Given the description of an element on the screen output the (x, y) to click on. 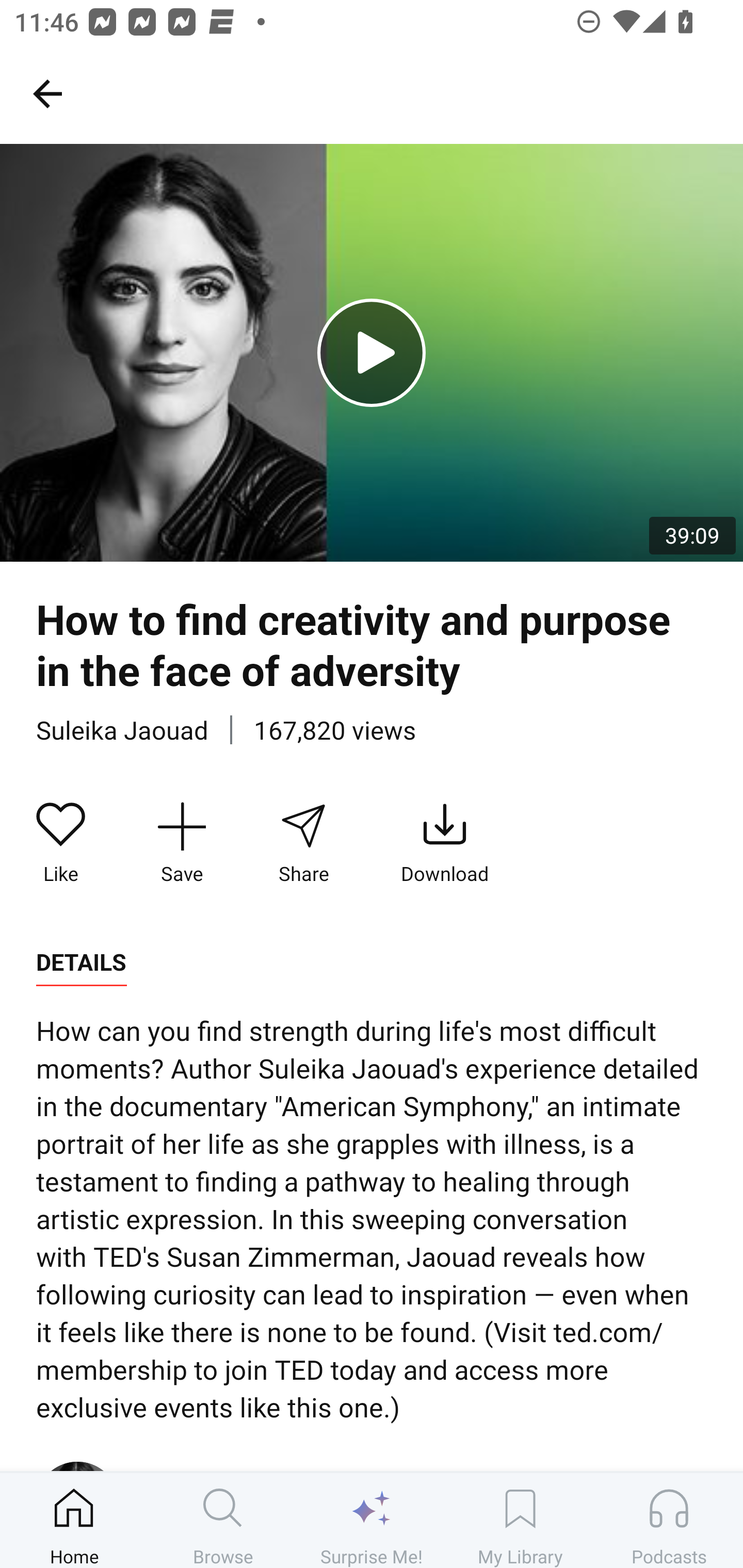
Home, back (47, 92)
Like (60, 843)
Save (181, 843)
Share (302, 843)
Download (444, 843)
DETAILS (80, 962)
Home (74, 1520)
Browse (222, 1520)
Surprise Me! (371, 1520)
My Library (519, 1520)
Podcasts (668, 1520)
